Given the description of an element on the screen output the (x, y) to click on. 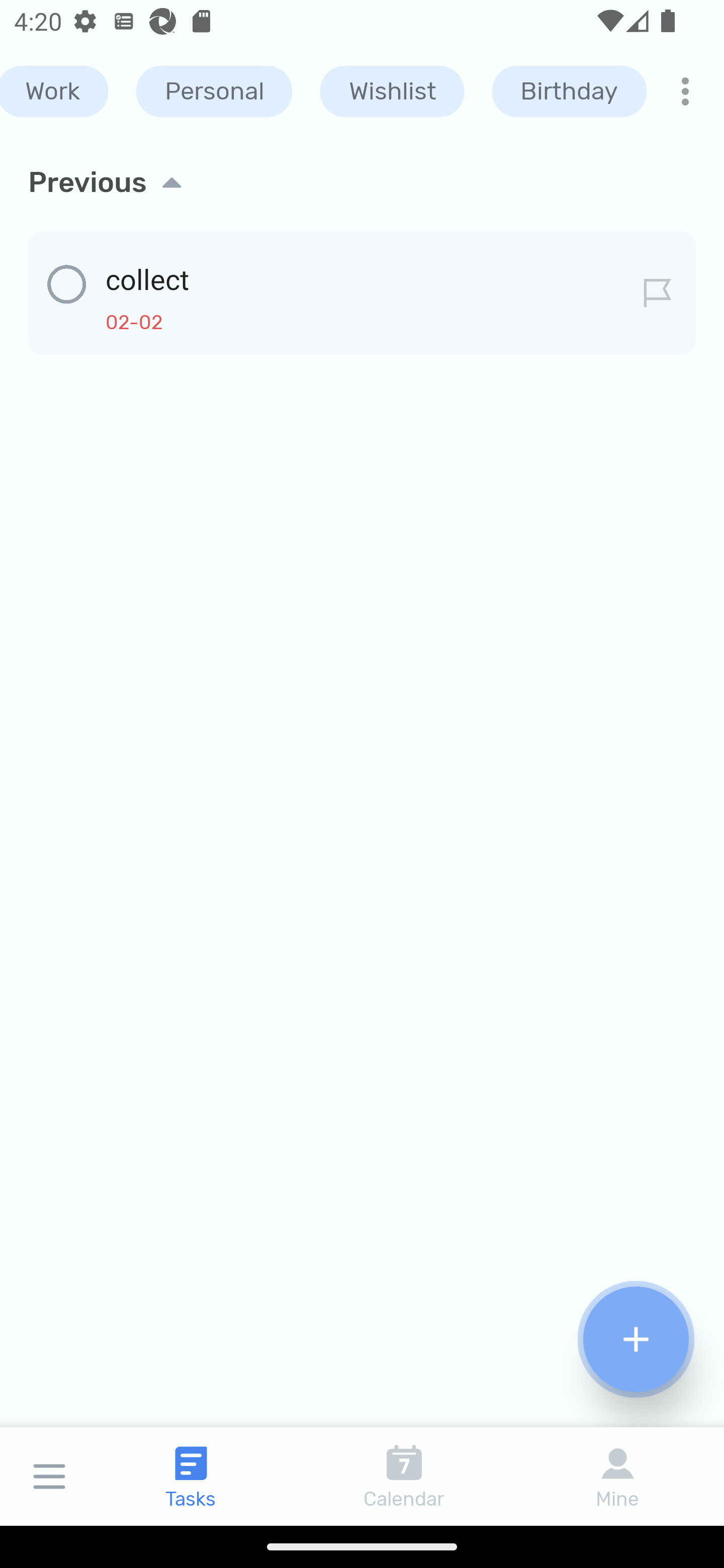
Work (53, 91)
Personal (213, 91)
Wishlist (392, 91)
Birthday (569, 91)
Previous (362, 182)
collect 02-02 (362, 289)
Tasks (190, 1475)
Calendar (404, 1475)
Mine (617, 1475)
